Given the description of an element on the screen output the (x, y) to click on. 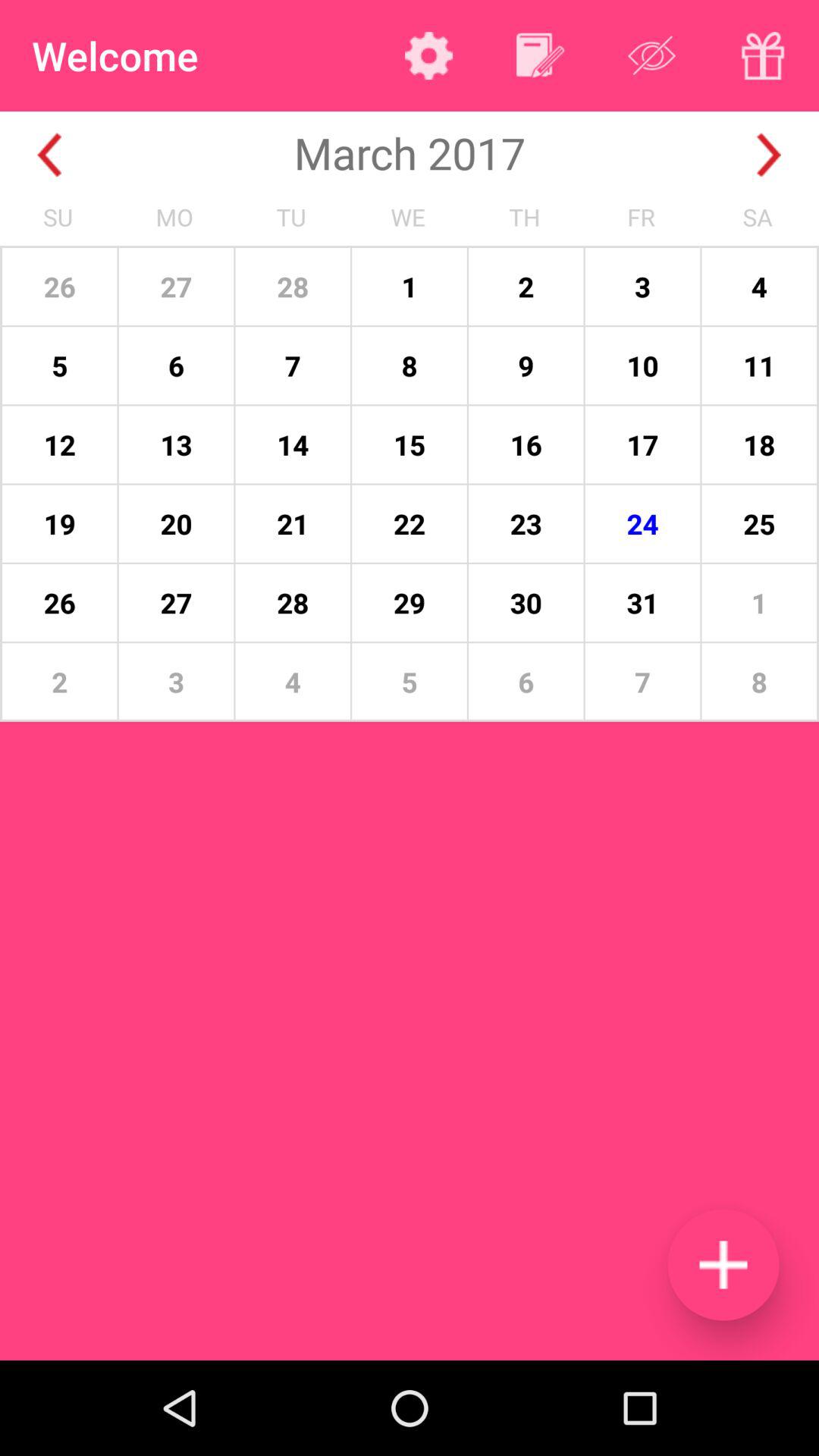
add event (723, 1264)
